Given the description of an element on the screen output the (x, y) to click on. 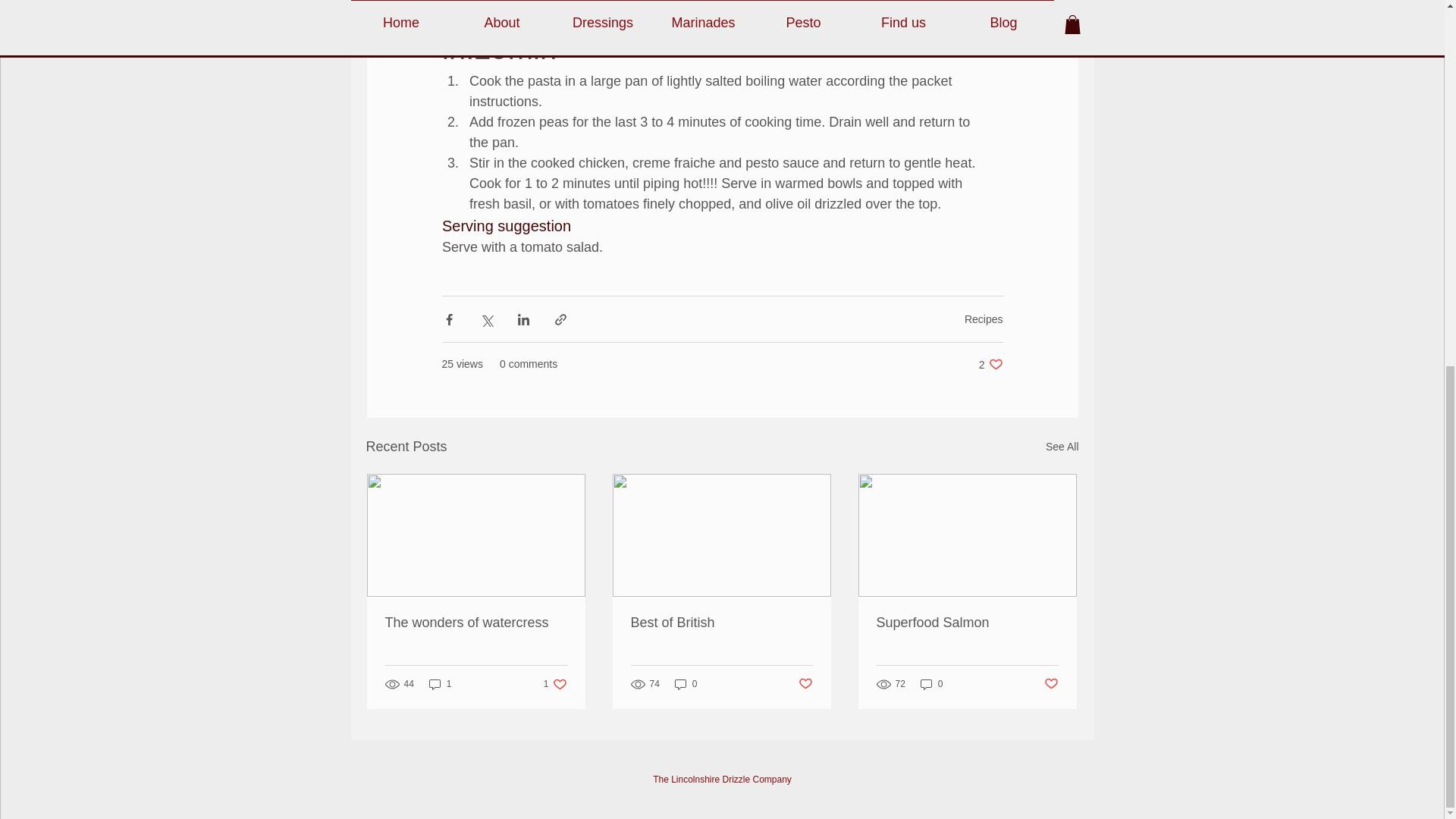
See All (1061, 446)
Post not marked as liked (804, 683)
Post not marked as liked (1050, 683)
1 (990, 364)
0 (555, 684)
The wonders of watercress (440, 684)
Superfood Salmon (685, 684)
Recipes (476, 622)
0 (967, 622)
Best of British (983, 318)
